Given the description of an element on the screen output the (x, y) to click on. 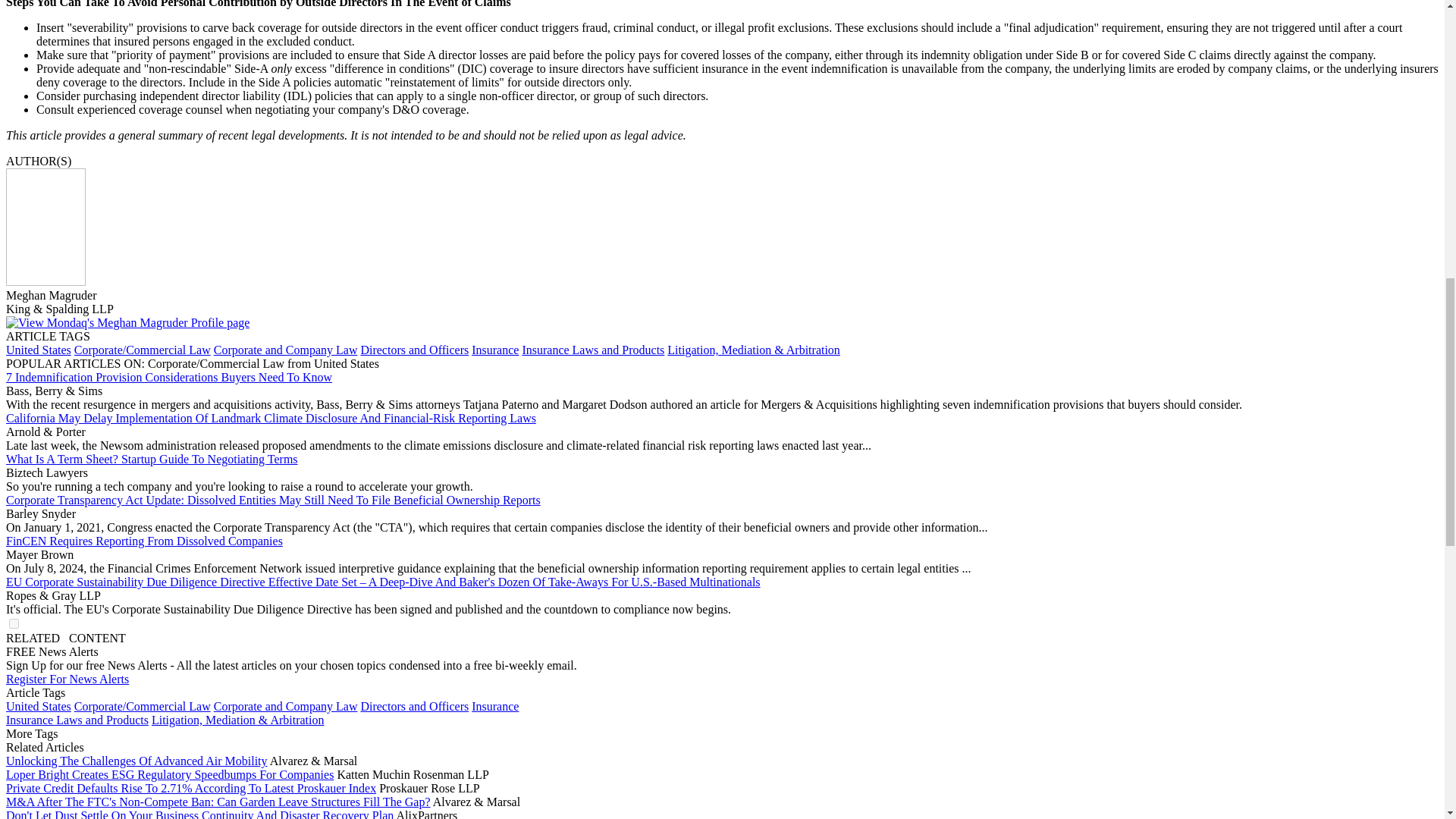
United States (38, 706)
Insurance Laws and Products (592, 349)
More from Meghan  Magruder (126, 322)
Insurance (494, 349)
Corporate and Company Law (286, 349)
Corporate and Company Law (286, 706)
Register For News Alerts (67, 678)
United States (38, 349)
FinCEN Requires Reporting From Dissolved Companies (143, 540)
Directors and Officers (413, 349)
Page tools slideout (65, 637)
What Is A Term Sheet? Startup Guide To Negotiating Terms (151, 459)
